Given the description of an element on the screen output the (x, y) to click on. 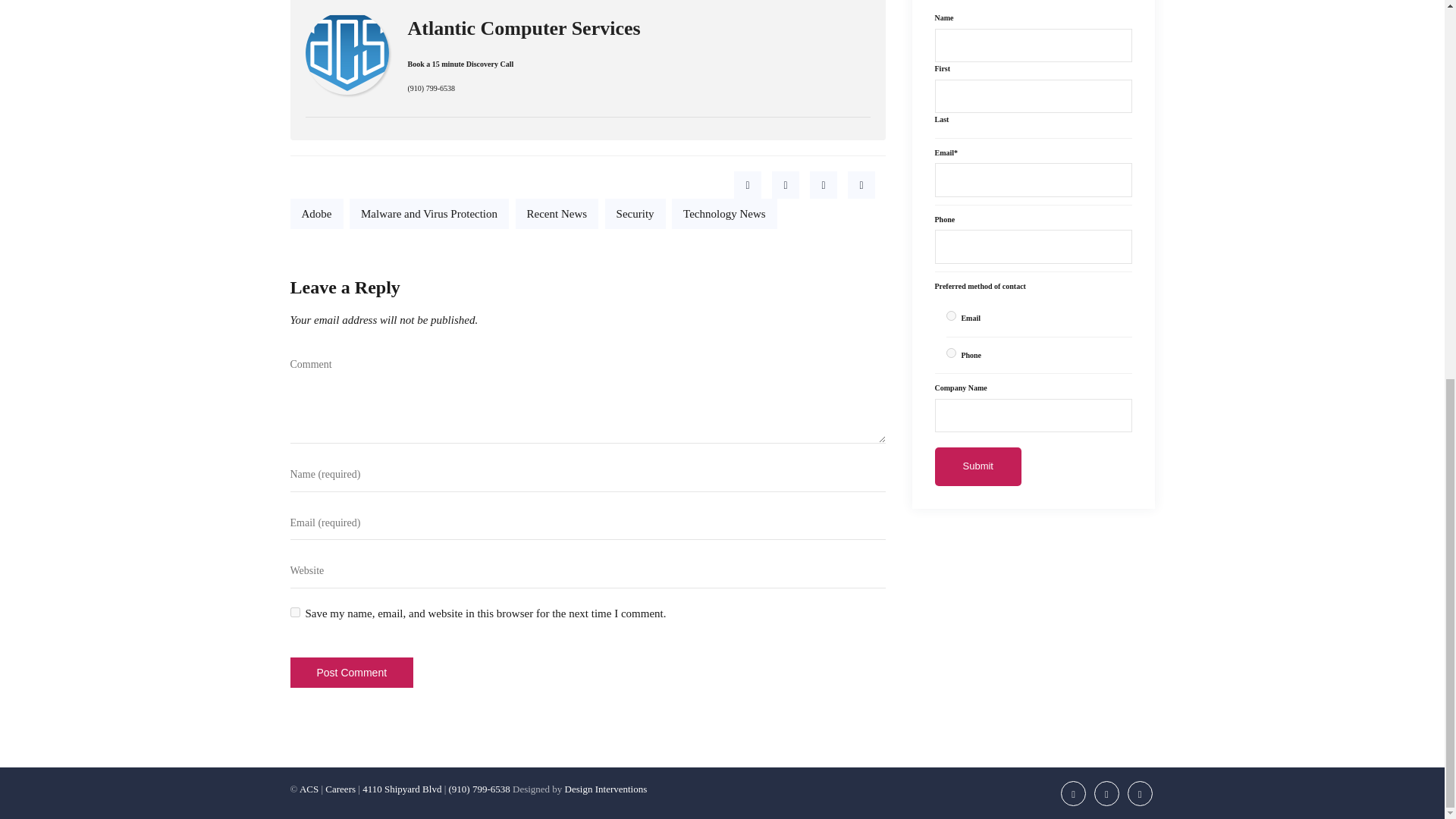
Email (951, 316)
Book a 15 minute Discovery Call (460, 63)
Atlantic Computer Services (523, 28)
Post Comment (351, 672)
yes (294, 612)
Phone (951, 352)
Submit (978, 466)
